Given the description of an element on the screen output the (x, y) to click on. 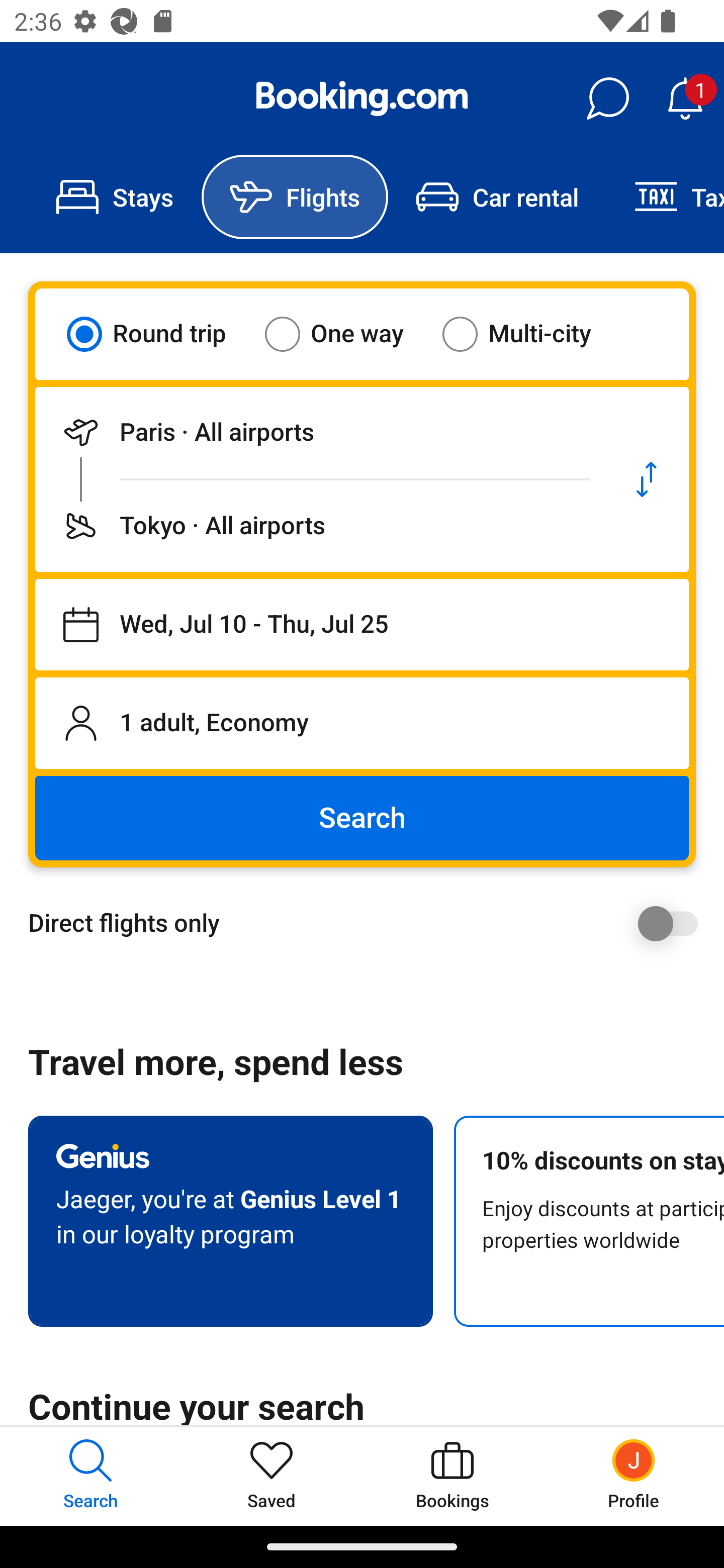
Messages (607, 98)
Notifications (685, 98)
Stays (114, 197)
Flights (294, 197)
Car rental (497, 197)
Taxi (665, 197)
One way (346, 333)
Multi-city (528, 333)
Departing from Paris · All airports (319, 432)
Swap departure location and destination (646, 479)
Flying to Tokyo · All airports (319, 525)
Departing on Wed, Jul 10, returning on Thu, Jul 25 (361, 624)
1 adult, Economy (361, 722)
Search (361, 818)
Direct flights only (369, 923)
Saved (271, 1475)
Bookings (452, 1475)
Profile (633, 1475)
